Given the description of an element on the screen output the (x, y) to click on. 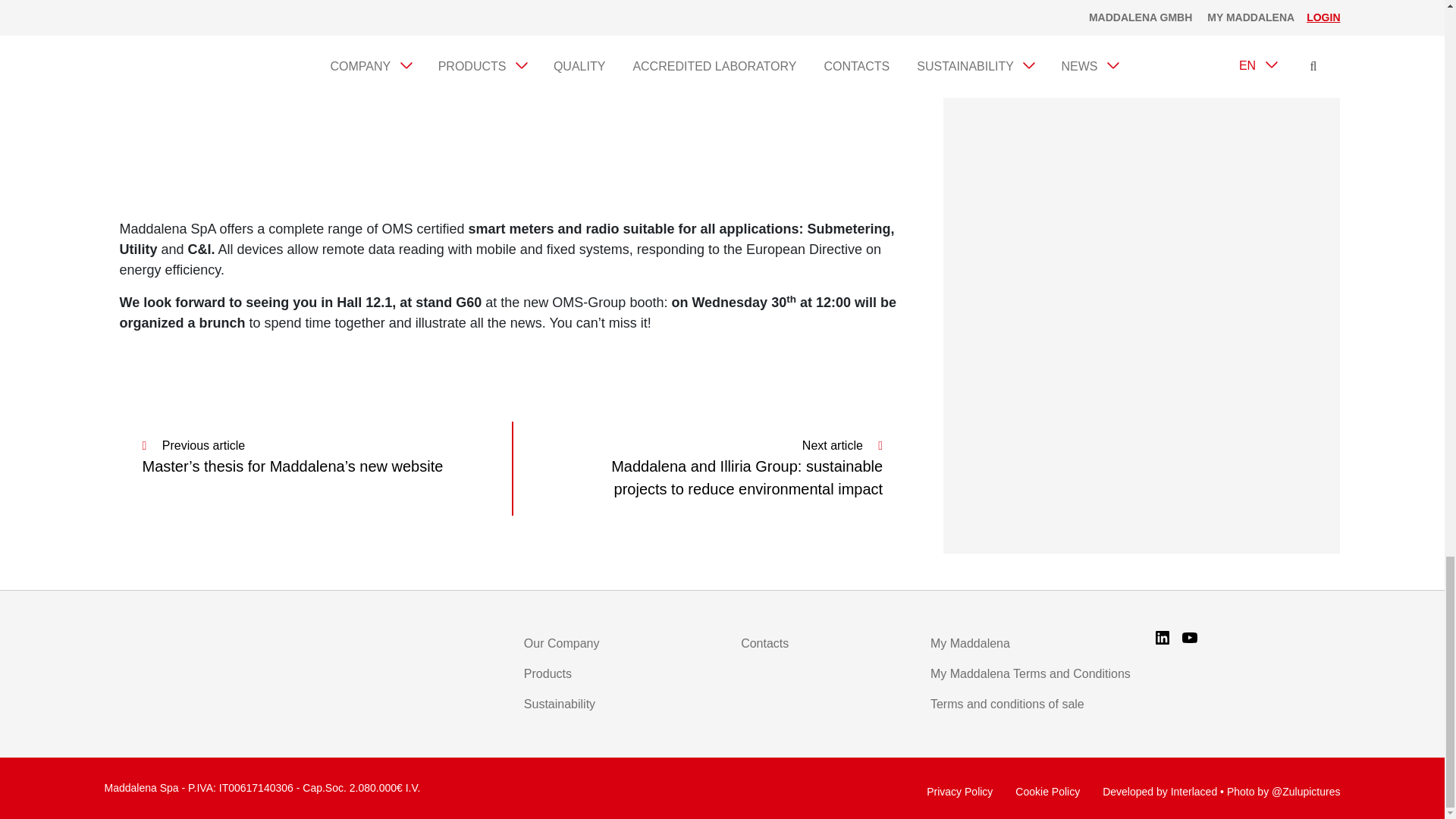
Vai alla homepage (208, 646)
